Given the description of an element on the screen output the (x, y) to click on. 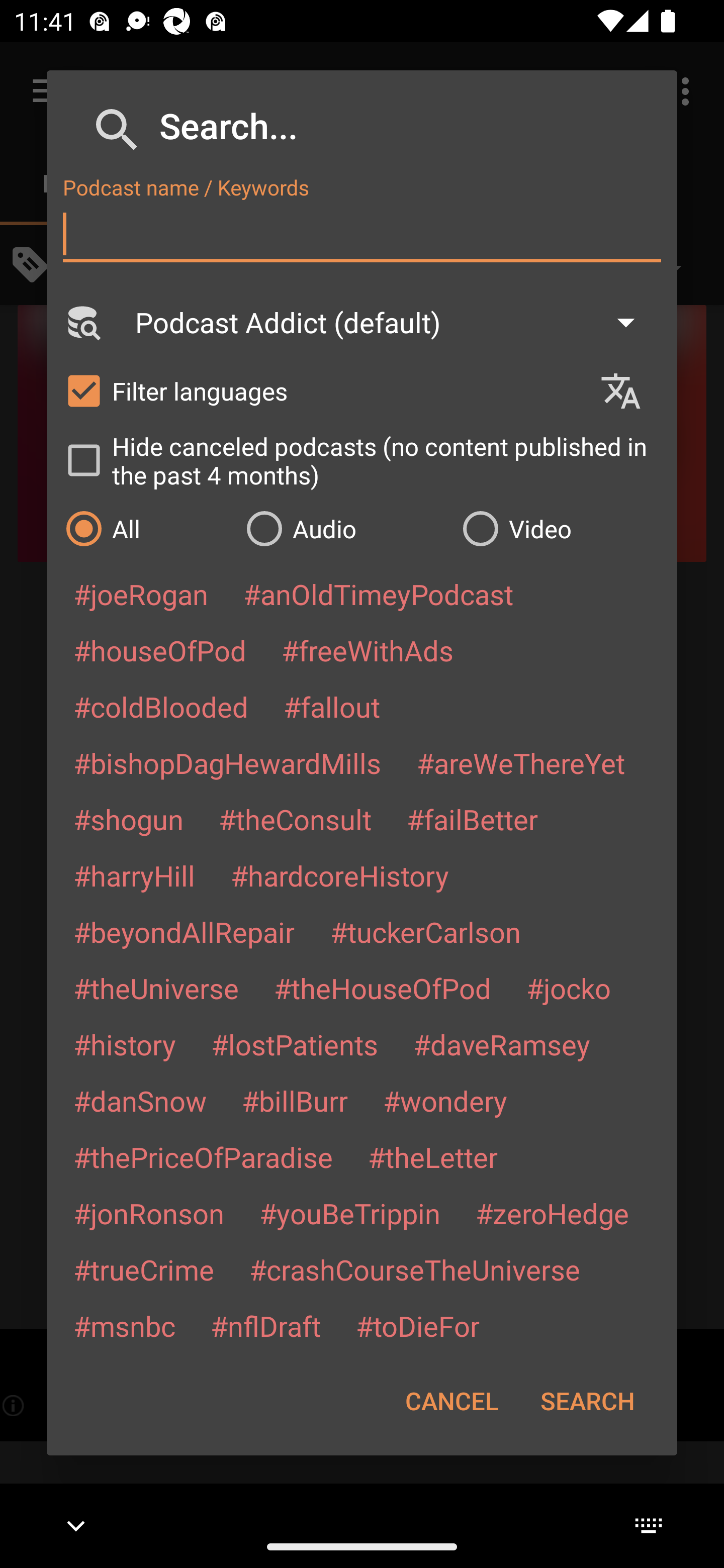
Podcast name / Keywords (361, 234)
Search Engine (82, 322)
Podcast Addict (default) (394, 322)
Languages selection (629, 390)
Filter languages (322, 390)
All (145, 528)
Audio (344, 528)
Video (560, 528)
#joeRogan (140, 594)
#anOldTimeyPodcast (378, 594)
#houseOfPod (159, 650)
#freeWithAds (367, 650)
#coldBlooded (160, 705)
#fallout (331, 705)
#bishopDagHewardMills (227, 762)
#areWeThereYet (521, 762)
#shogun (128, 818)
#theConsult (294, 818)
#failBetter (471, 818)
#harryHill (134, 875)
#hardcoreHistory (339, 875)
#beyondAllRepair (184, 931)
#tuckerCarlson (425, 931)
#theUniverse (155, 987)
#theHouseOfPod (381, 987)
#jocko (568, 987)
#history (124, 1044)
#lostPatients (294, 1044)
#daveRamsey (501, 1044)
#danSnow (139, 1100)
#billBurr (294, 1100)
#wondery (444, 1100)
#thePriceOfParadise (203, 1157)
#theLetter (432, 1157)
#jonRonson (148, 1213)
#youBeTrippin (349, 1213)
#zeroHedge (552, 1213)
#trueCrime (143, 1268)
#crashCourseTheUniverse (414, 1268)
#msnbc (124, 1325)
#nflDraft (265, 1325)
#toDieFor (417, 1325)
CANCEL (451, 1400)
SEARCH (587, 1400)
